Given the description of an element on the screen output the (x, y) to click on. 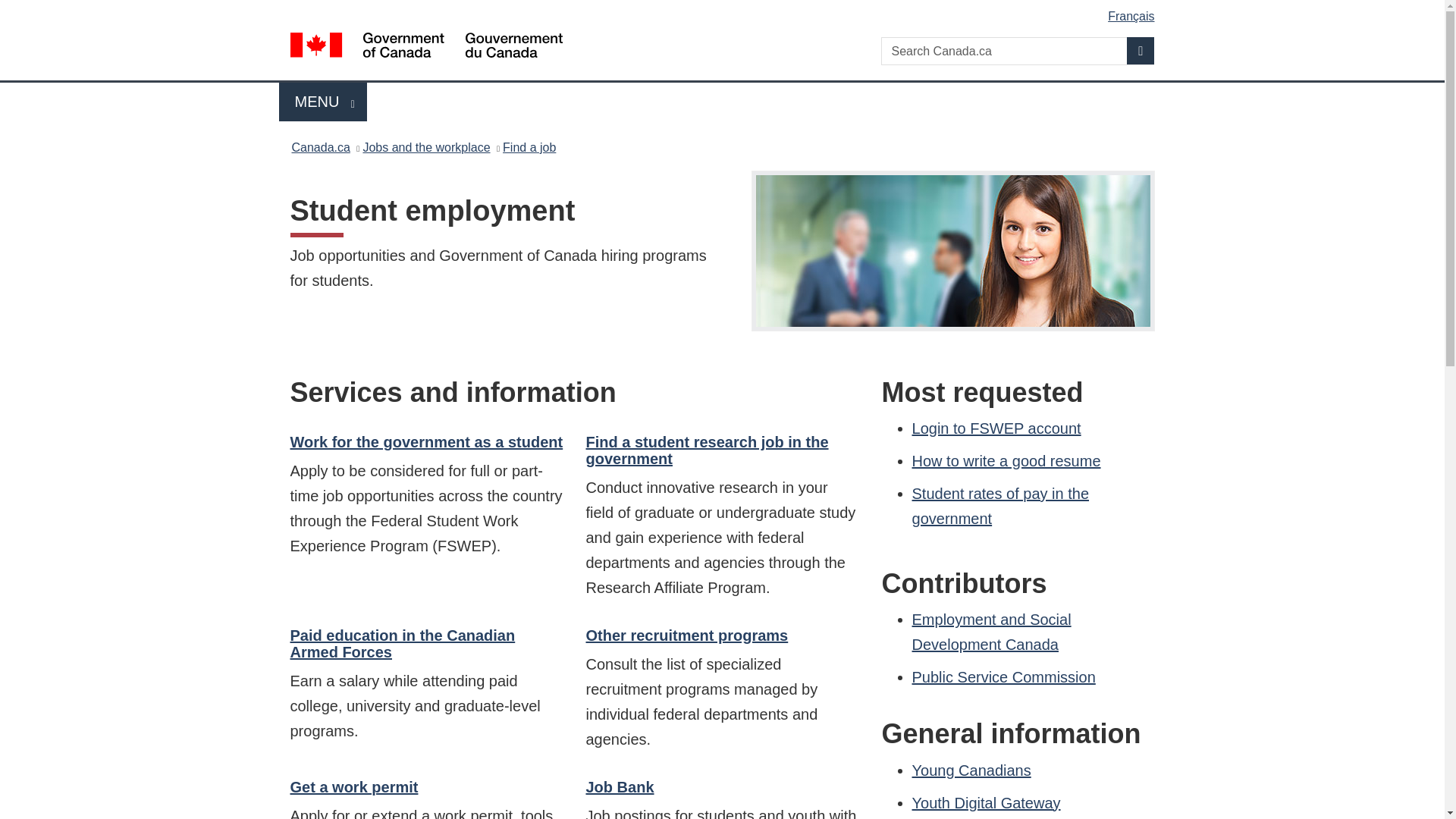
Login to FSWEP account (996, 428)
Canada.ca (320, 147)
How to write a good resume (1006, 460)
Jobs and the workplace (425, 147)
Youth Digital Gateway (322, 101)
Paid education in the Canadian Armed Forces (986, 802)
Young Canadians (402, 643)
Student rates of pay in the government (971, 770)
Public Service Commission (1000, 506)
Find a job (1004, 677)
Find a student research job in the government (529, 147)
Employment and Social Development Canada (706, 450)
Skip to main content (991, 631)
Search (725, 11)
